Given the description of an element on the screen output the (x, y) to click on. 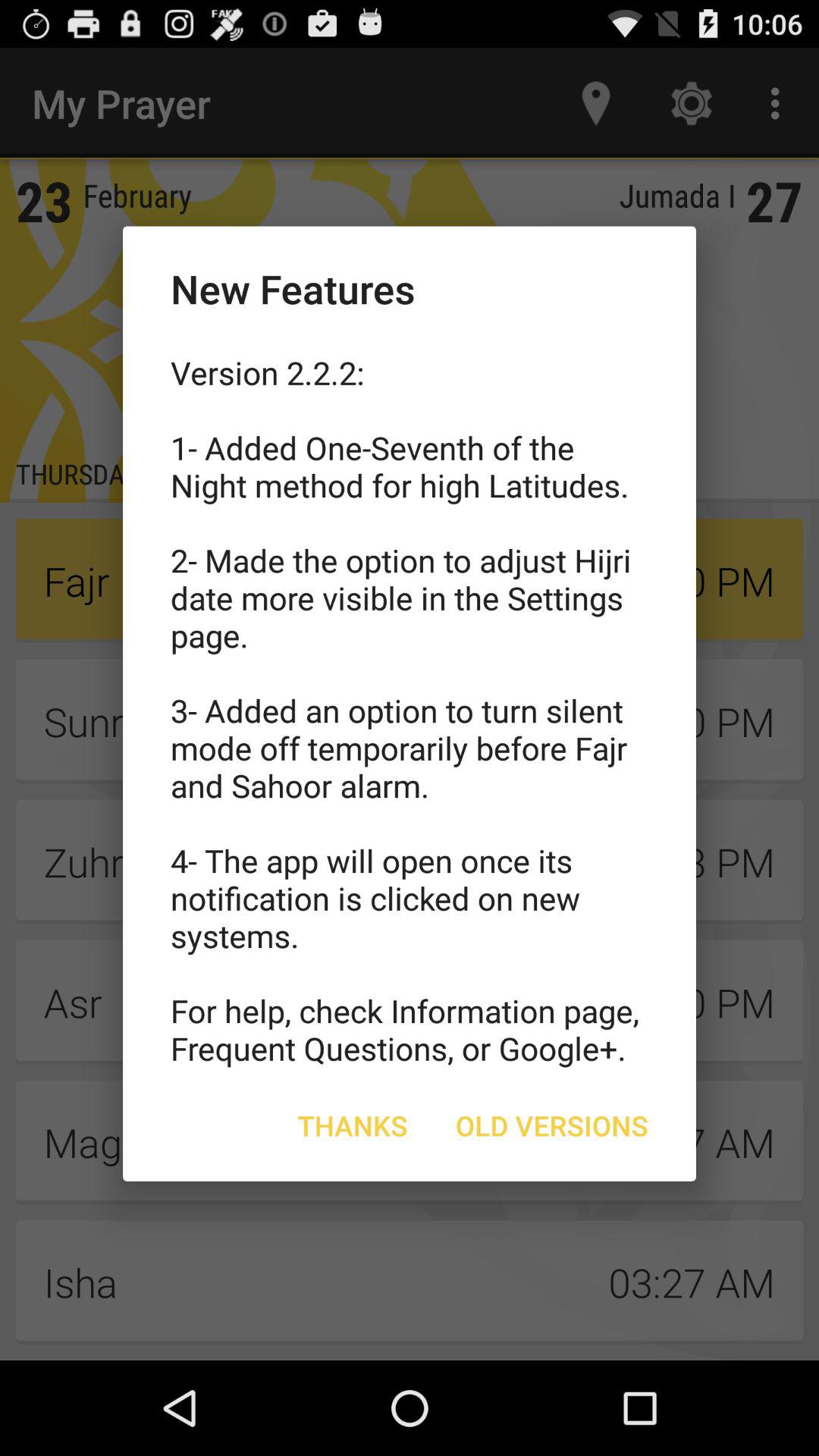
swipe until the thanks item (352, 1125)
